Given the description of an element on the screen output the (x, y) to click on. 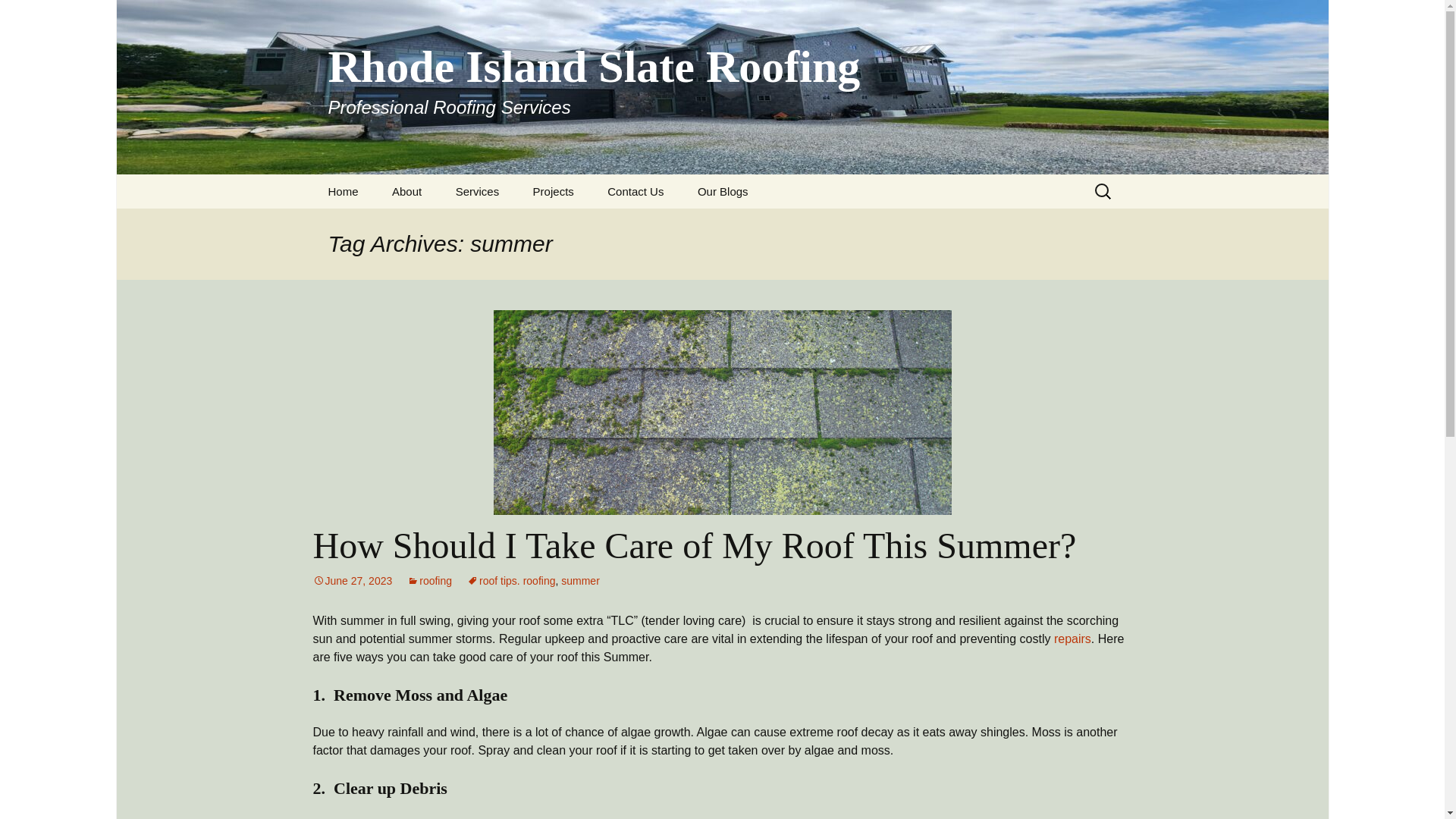
Our Blogs (722, 191)
How Should I Take Care of My Roof This Summer? (694, 545)
About (406, 191)
Contact Us (635, 191)
roofing (429, 580)
Projects (352, 580)
repairs (553, 191)
Search (1072, 638)
summer (18, 15)
June 27, 2023 (579, 580)
